Given the description of an element on the screen output the (x, y) to click on. 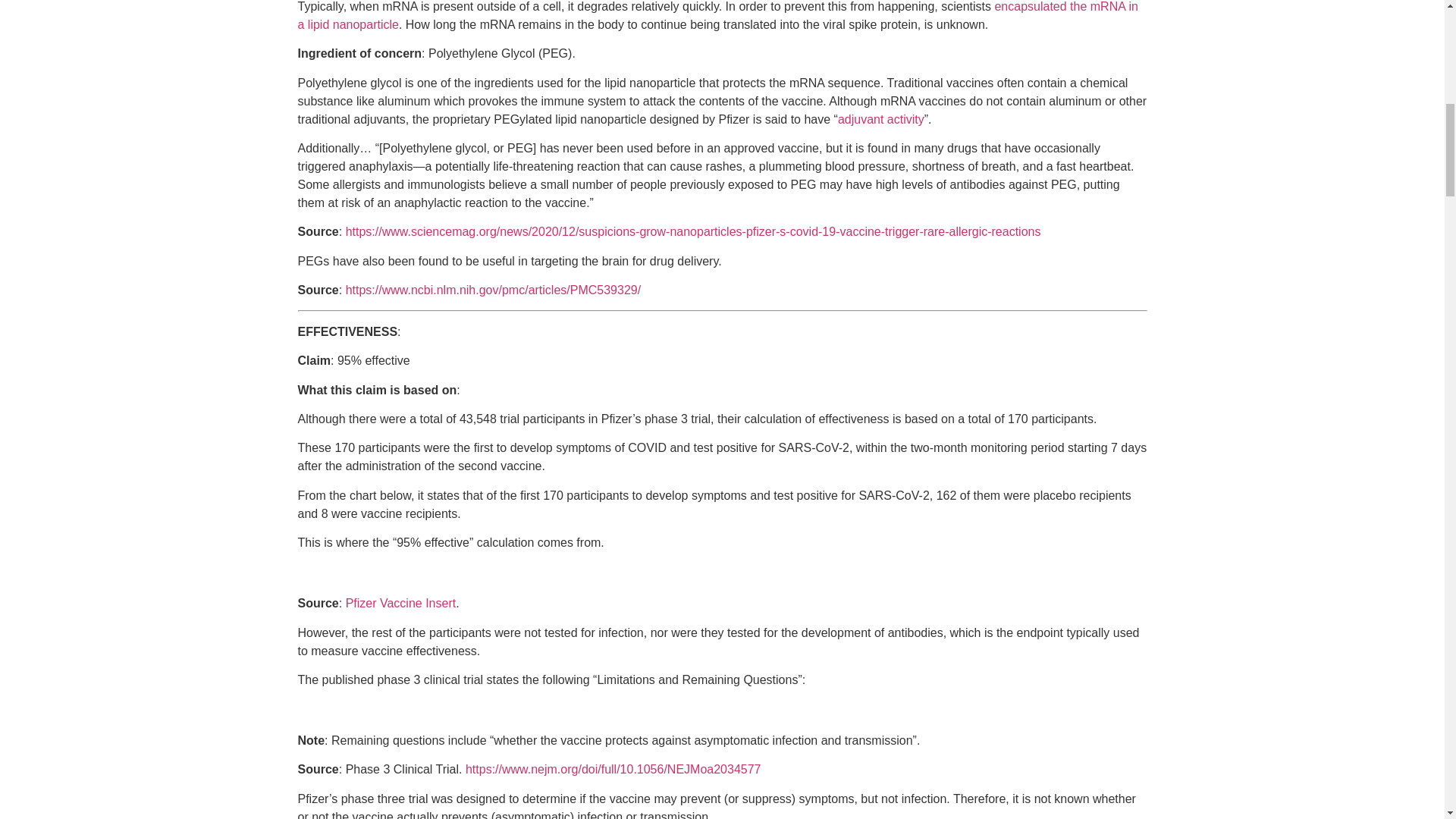
Pfizer Vaccine Insert (401, 603)
encapsulated the mRNA in a lipid nanoparticle (717, 15)
adjuvant activity (881, 118)
